Given the description of an element on the screen output the (x, y) to click on. 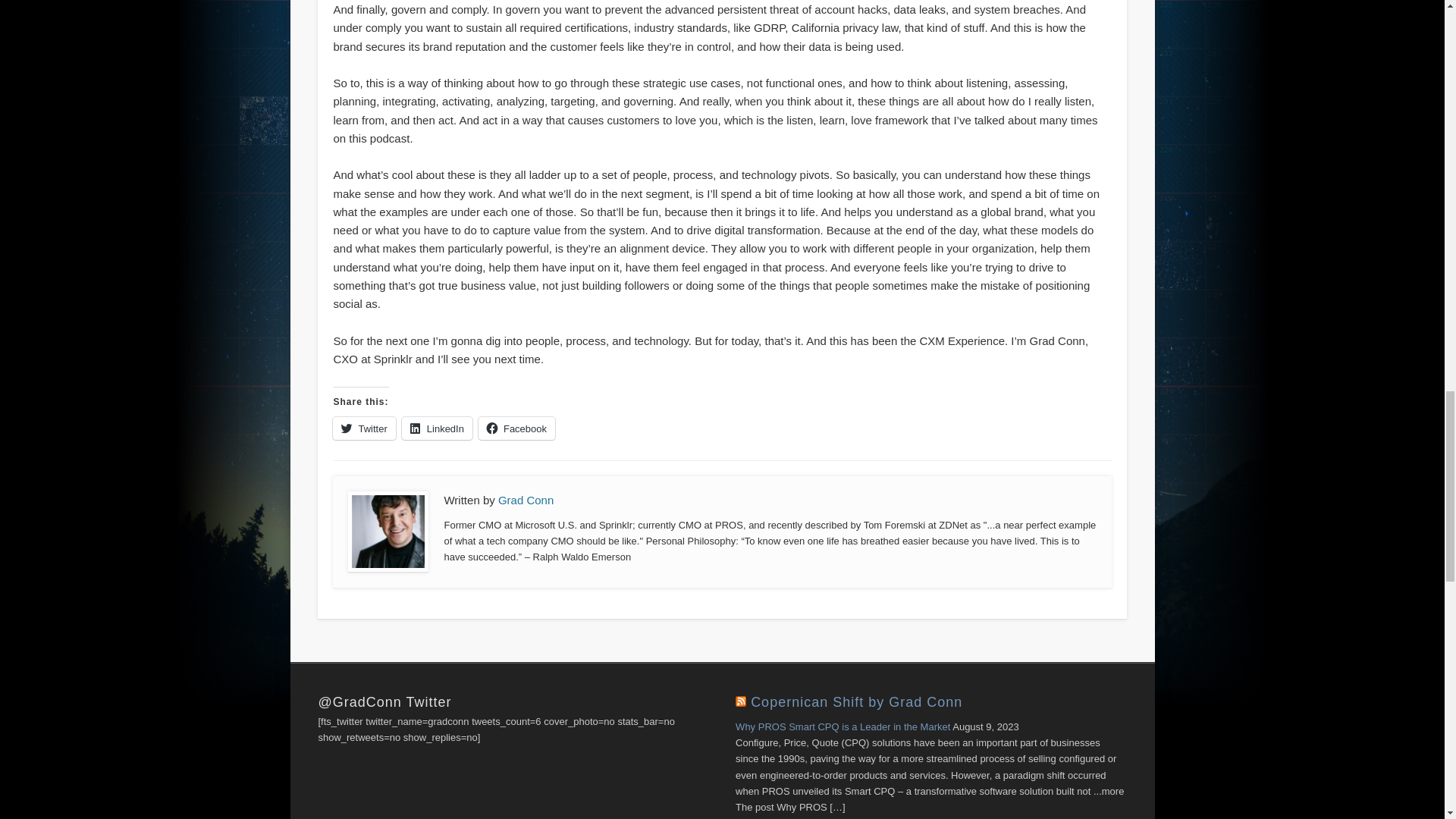
Twitter (363, 427)
Click to share on Twitter (363, 427)
Grad Conn (525, 499)
Click to share on Facebook (516, 427)
Posts by Grad Conn (525, 499)
LinkedIn (436, 427)
Facebook (516, 427)
Click to share on LinkedIn (436, 427)
